Given the description of an element on the screen output the (x, y) to click on. 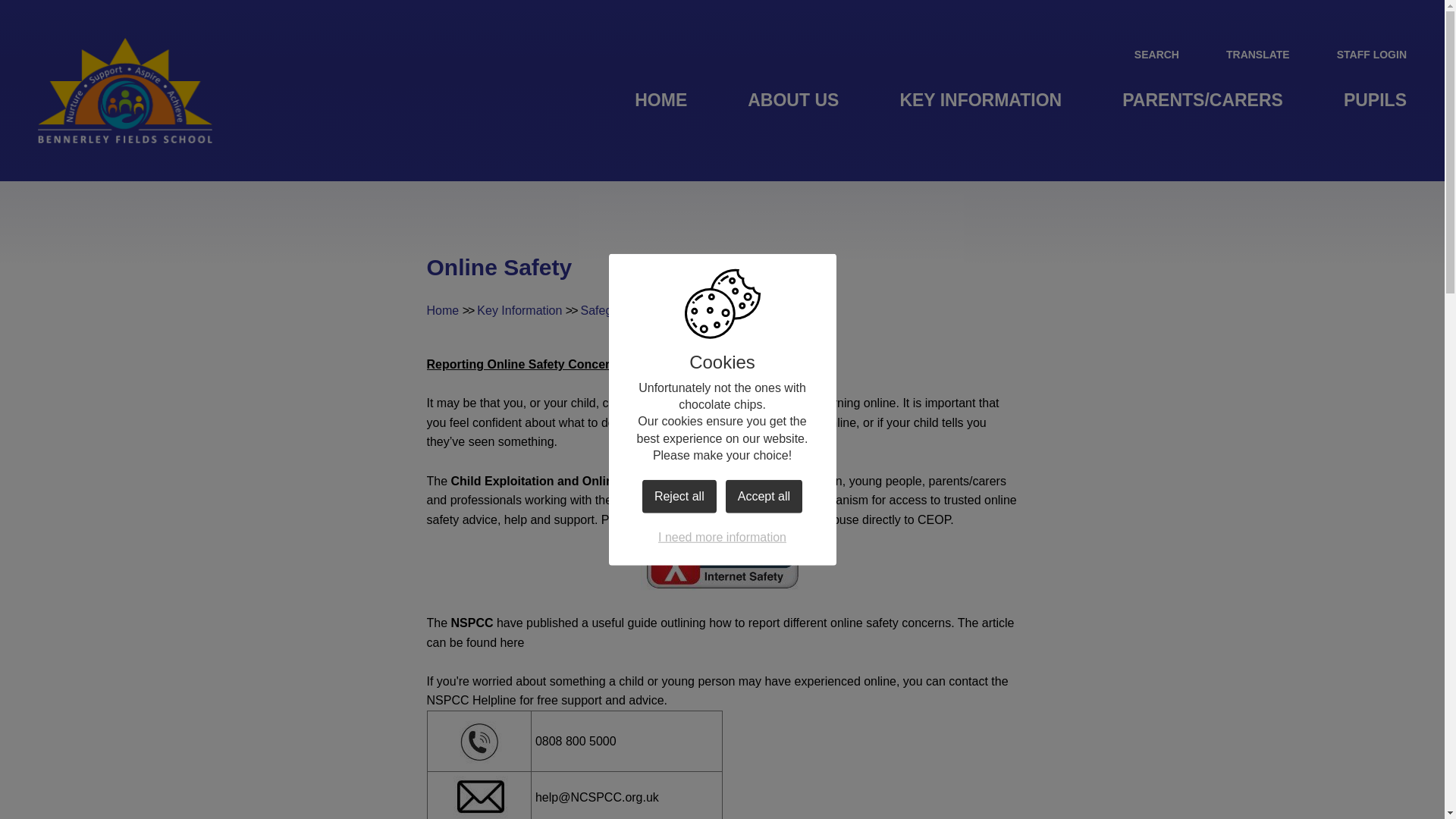
KEY INFORMATION (979, 100)
STAFF LOGIN (1358, 54)
Home Page (124, 90)
HOME (660, 100)
ABOUT US (792, 100)
SEARCH (1144, 54)
TRANSLATE (1245, 54)
